Given the description of an element on the screen output the (x, y) to click on. 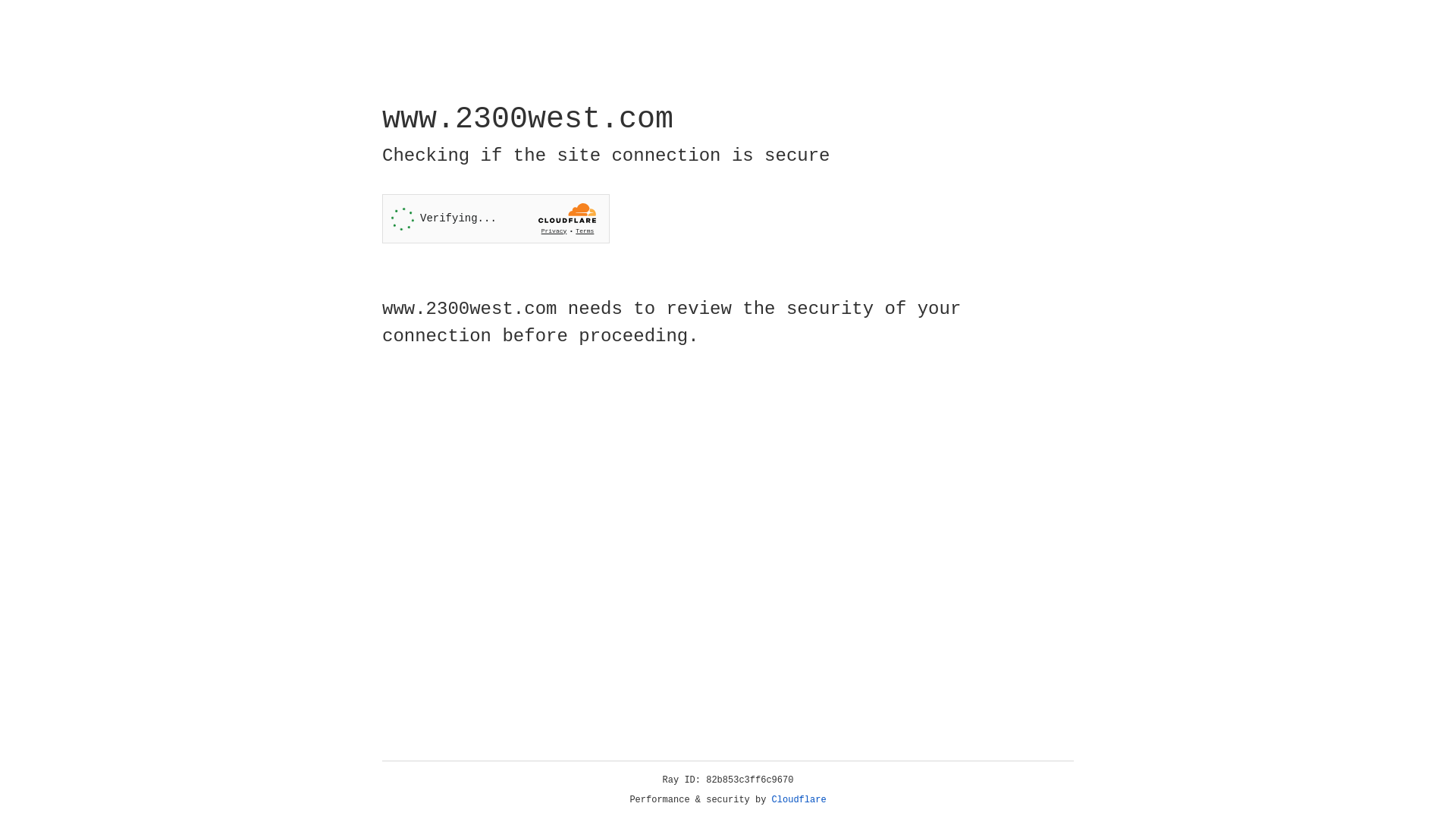
Cloudflare Element type: text (798, 799)
Widget containing a Cloudflare security challenge Element type: hover (495, 218)
